Given the description of an element on the screen output the (x, y) to click on. 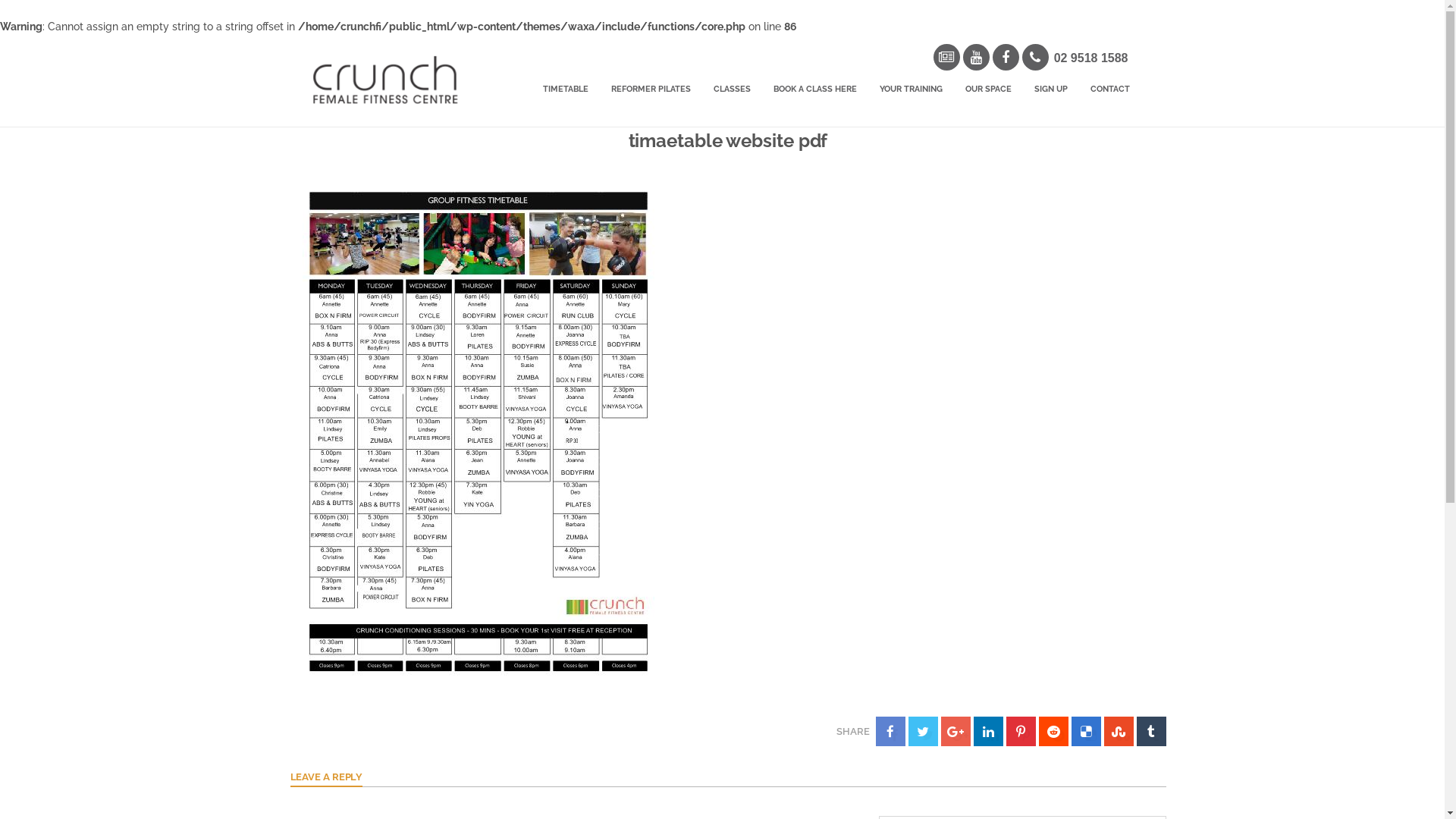
Share toGoogle+ Element type: hover (954, 731)
BOOK A CLASS HERE Element type: text (814, 89)
Share toStumbleupon Element type: hover (1118, 731)
Share toReddit Element type: hover (1053, 731)
Share toLinkedin Element type: hover (988, 731)
SIGN UP Element type: text (1050, 89)
TIMETABLE Element type: text (564, 89)
News Element type: hover (946, 56)
Facebook Element type: hover (1005, 56)
REFORMER PILATES Element type: text (650, 89)
OUR SPACE Element type: text (987, 89)
Youtube Element type: hover (976, 56)
Share toPinterest Element type: hover (1020, 731)
Call Element type: hover (1035, 56)
YOUR TRAINING Element type: text (910, 89)
Share toTwitter Element type: hover (923, 731)
CONTACT Element type: text (1109, 89)
CLASSES Element type: text (732, 89)
Share toFacebook Element type: hover (889, 731)
Share toDelicious Element type: hover (1085, 731)
Share toTumblr Element type: hover (1150, 731)
